Given the description of an element on the screen output the (x, y) to click on. 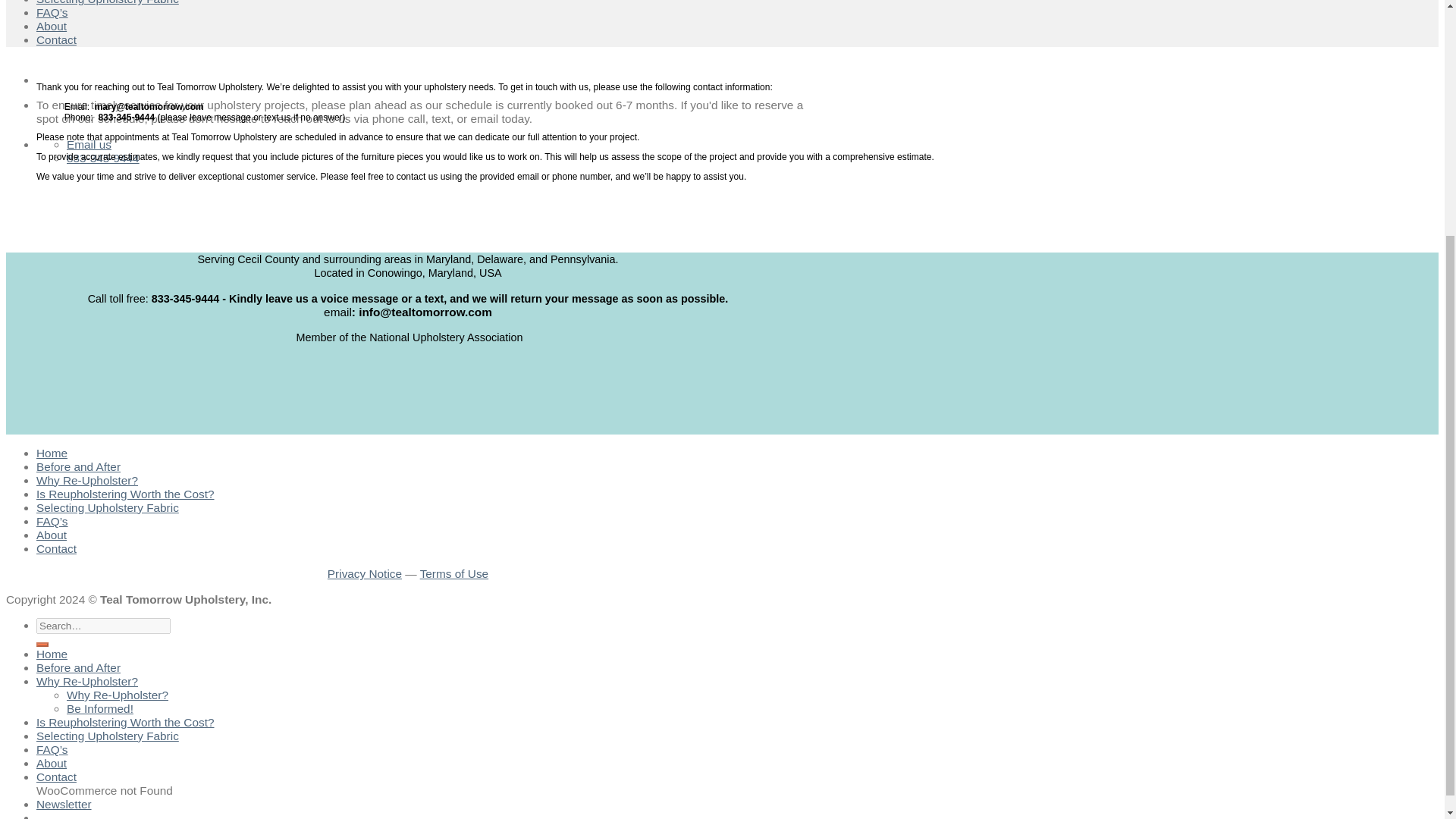
Why Re-Upholster? (117, 694)
Why Re-Upholster? (87, 480)
833-345-9444 (102, 157)
About (51, 25)
Selecting Upholstery Fabric (107, 2)
About (51, 534)
Email us (89, 144)
Home (51, 653)
Before and After (78, 667)
Before and After (78, 466)
